Given the description of an element on the screen output the (x, y) to click on. 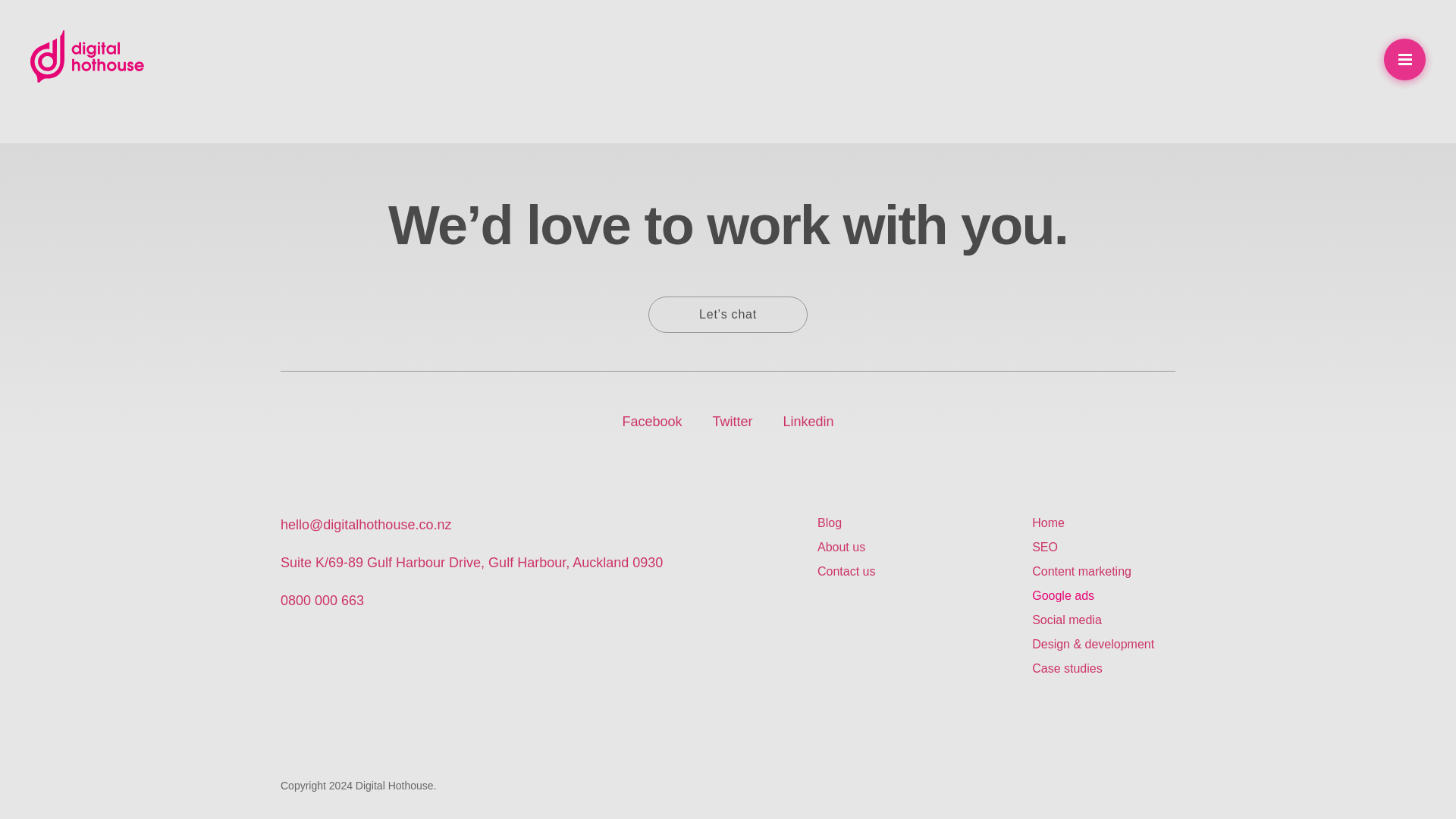
0800 000 663 (322, 600)
Twitter (731, 421)
Facebook (651, 421)
Linkedin (807, 421)
